Given the description of an element on the screen output the (x, y) to click on. 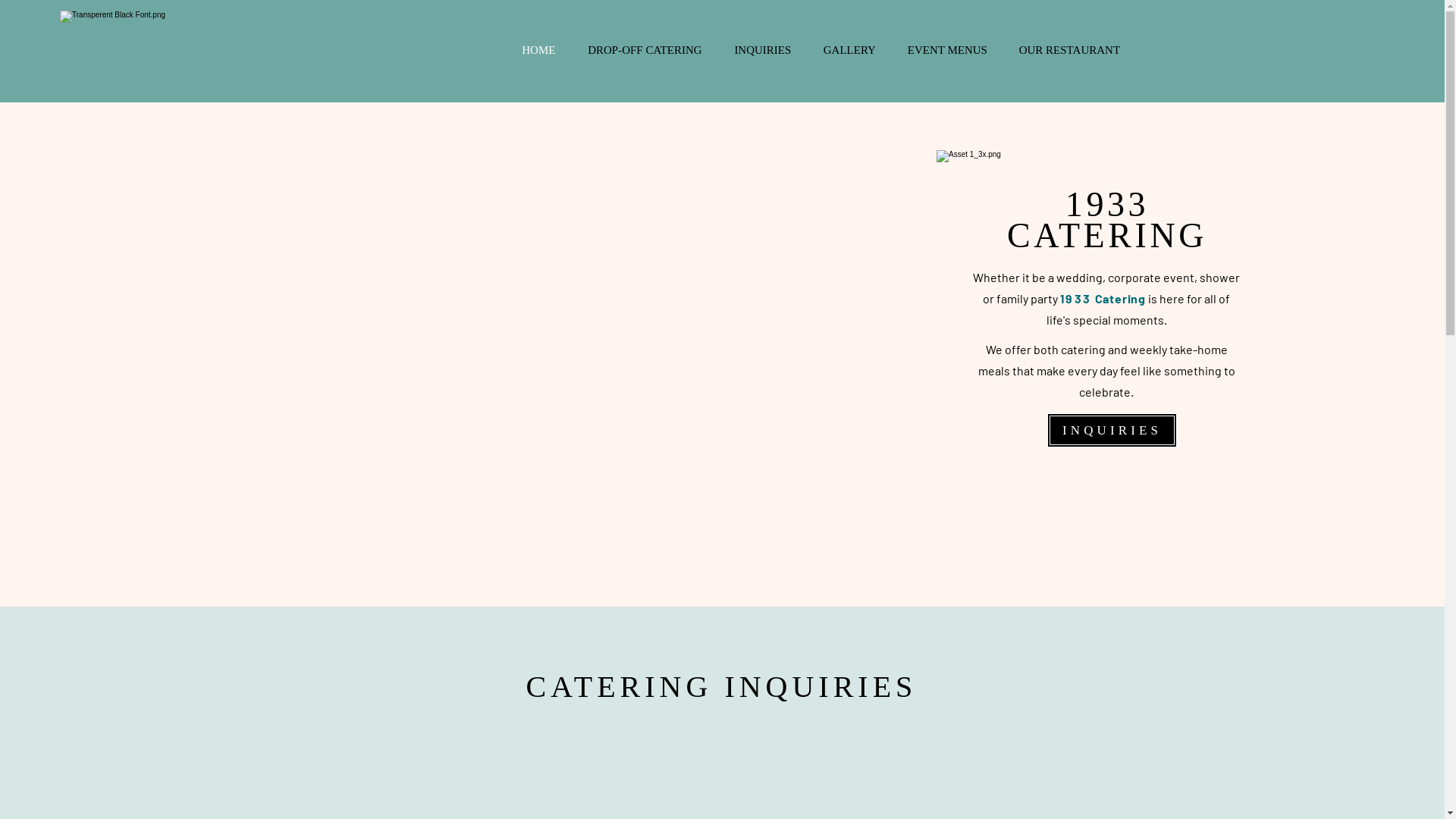
GALLERY Element type: text (849, 50)
DROP-OFF CATERING Element type: text (644, 50)
HOME Element type: text (538, 50)
INQUIRIES Element type: text (762, 50)
INQUIRIES Element type: text (1111, 430)
OUR RESTAURANT Element type: text (1069, 50)
EVENT MENUS Element type: text (947, 50)
